Given the description of an element on the screen output the (x, y) to click on. 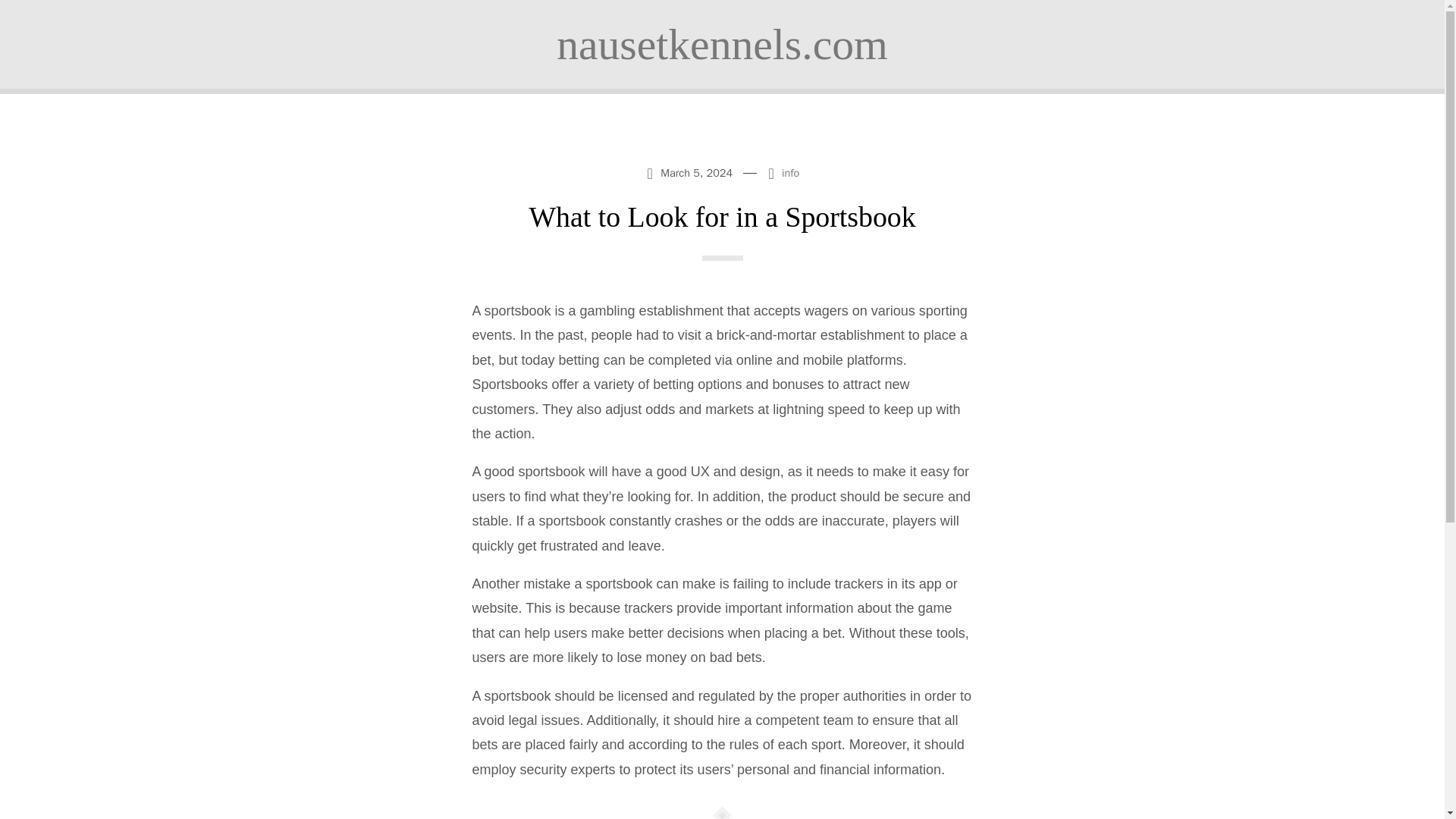
info (790, 172)
nausetkennels.com (722, 43)
